Given the description of an element on the screen output the (x, y) to click on. 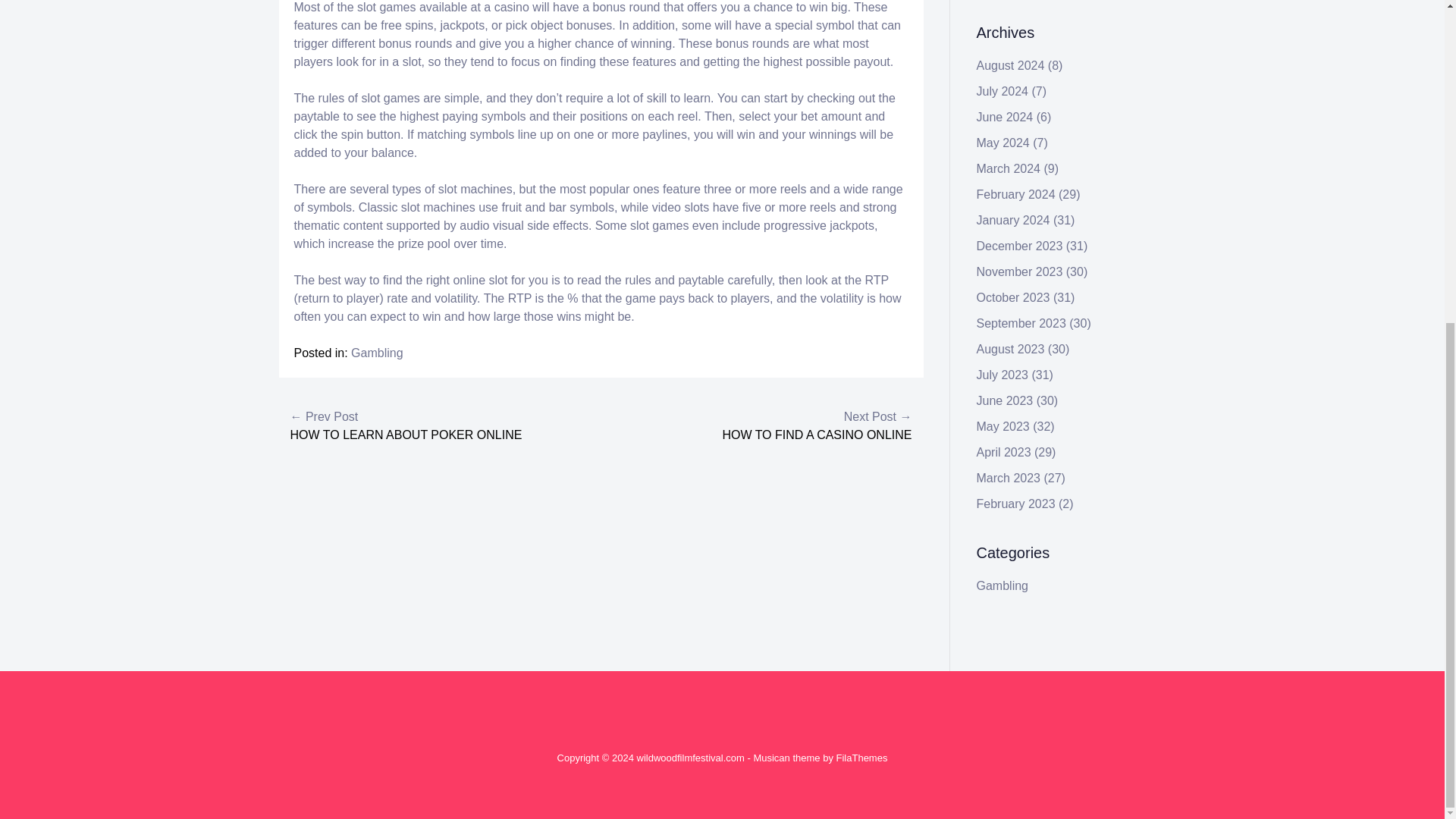
August 2023 (1010, 349)
September 2023 (1020, 323)
October 2023 (1012, 297)
July 2023 (1002, 374)
December 2023 (1019, 245)
November 2023 (1019, 271)
May 2023 (1002, 426)
June 2024 (1004, 116)
March 2023 (1008, 477)
FilaThemes (861, 757)
